Given the description of an element on the screen output the (x, y) to click on. 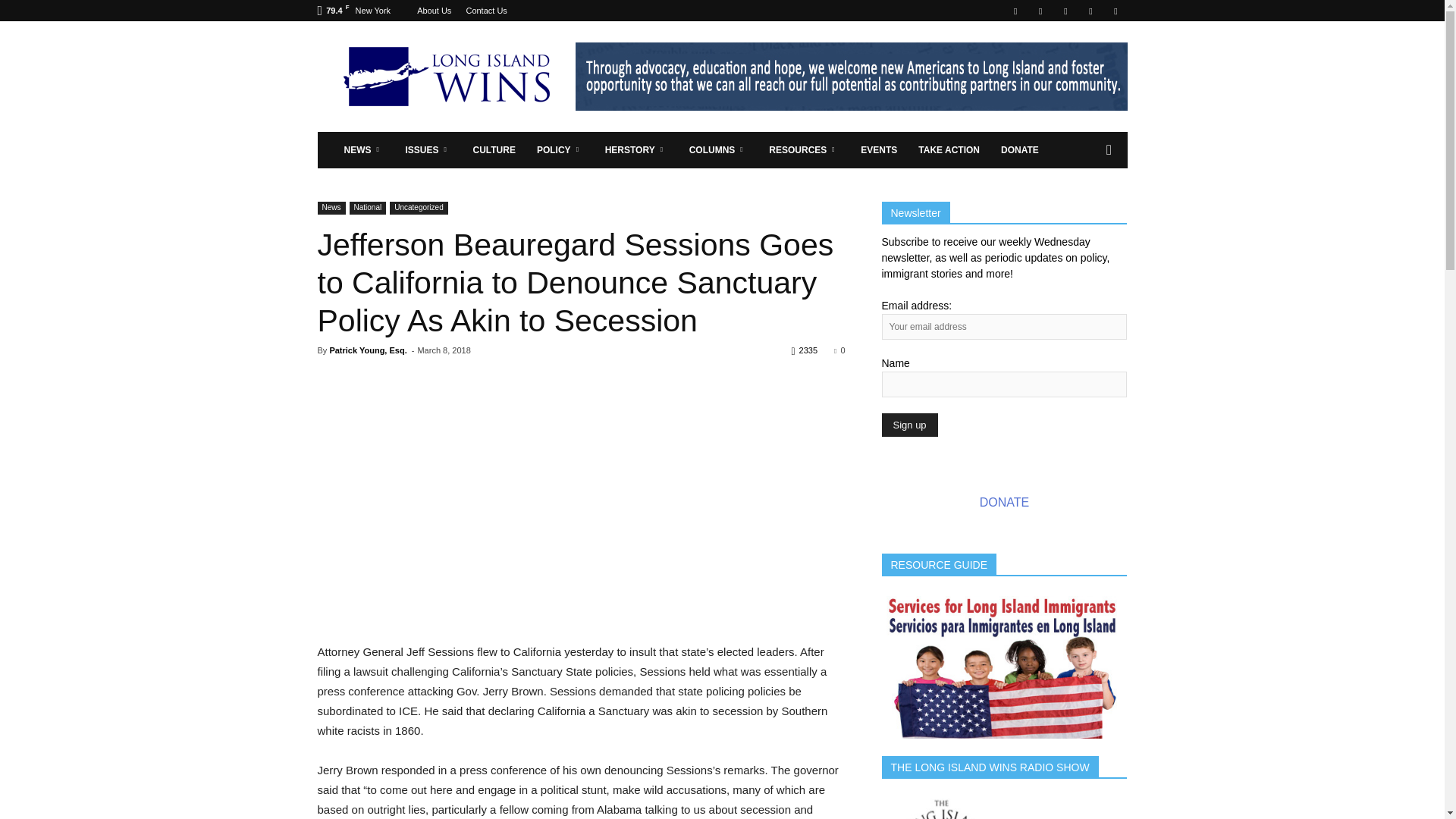
Soundcloud (1065, 10)
Facebook (1015, 10)
Sign up (908, 424)
Twitter (1090, 10)
Youtube (1114, 10)
Instagram (1040, 10)
